Given the description of an element on the screen output the (x, y) to click on. 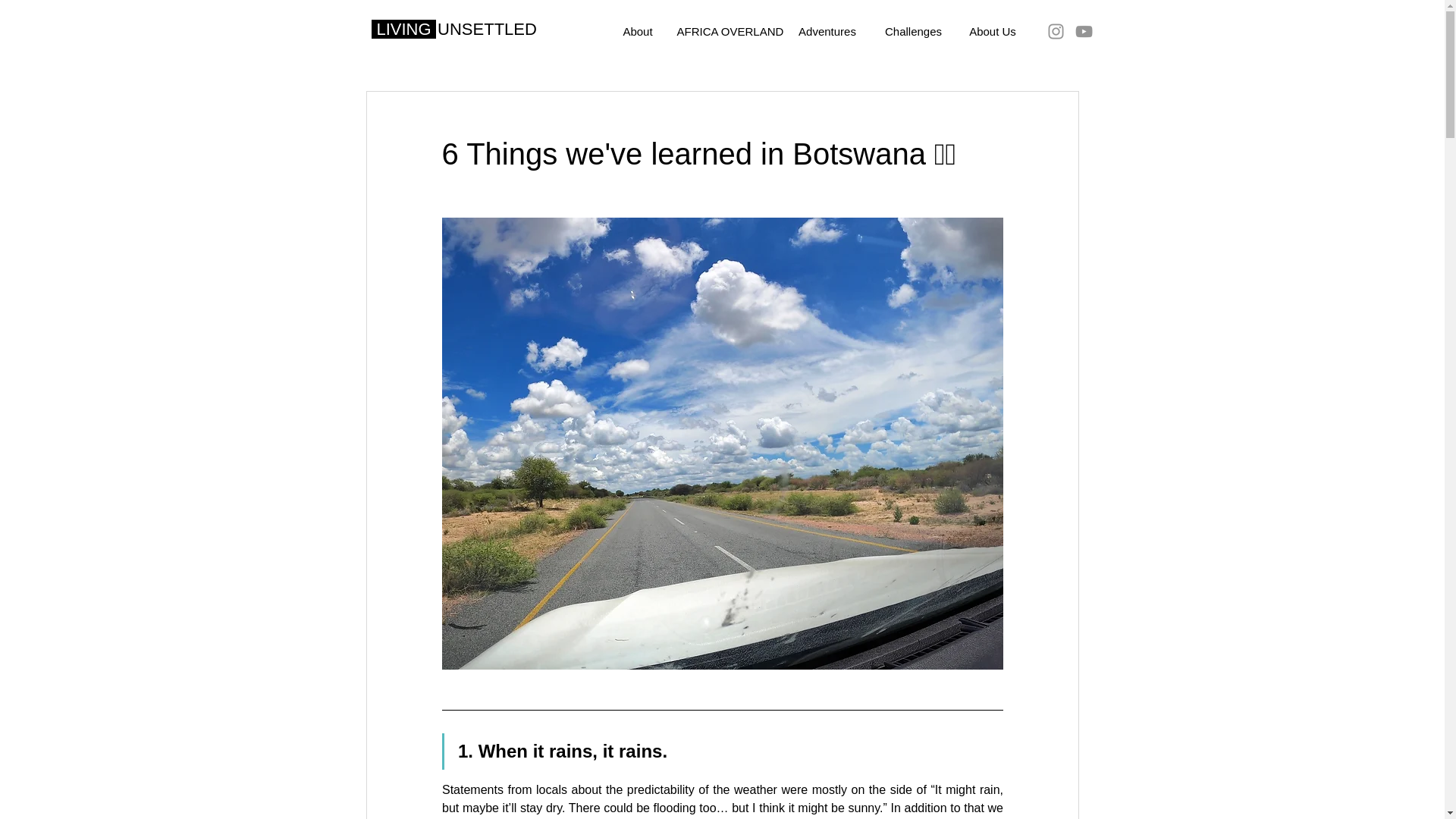
UNSETTLED (487, 28)
AFRICA OVERLAND (724, 31)
About (637, 31)
About Us (992, 31)
 LIVING  (403, 28)
